Given the description of an element on the screen output the (x, y) to click on. 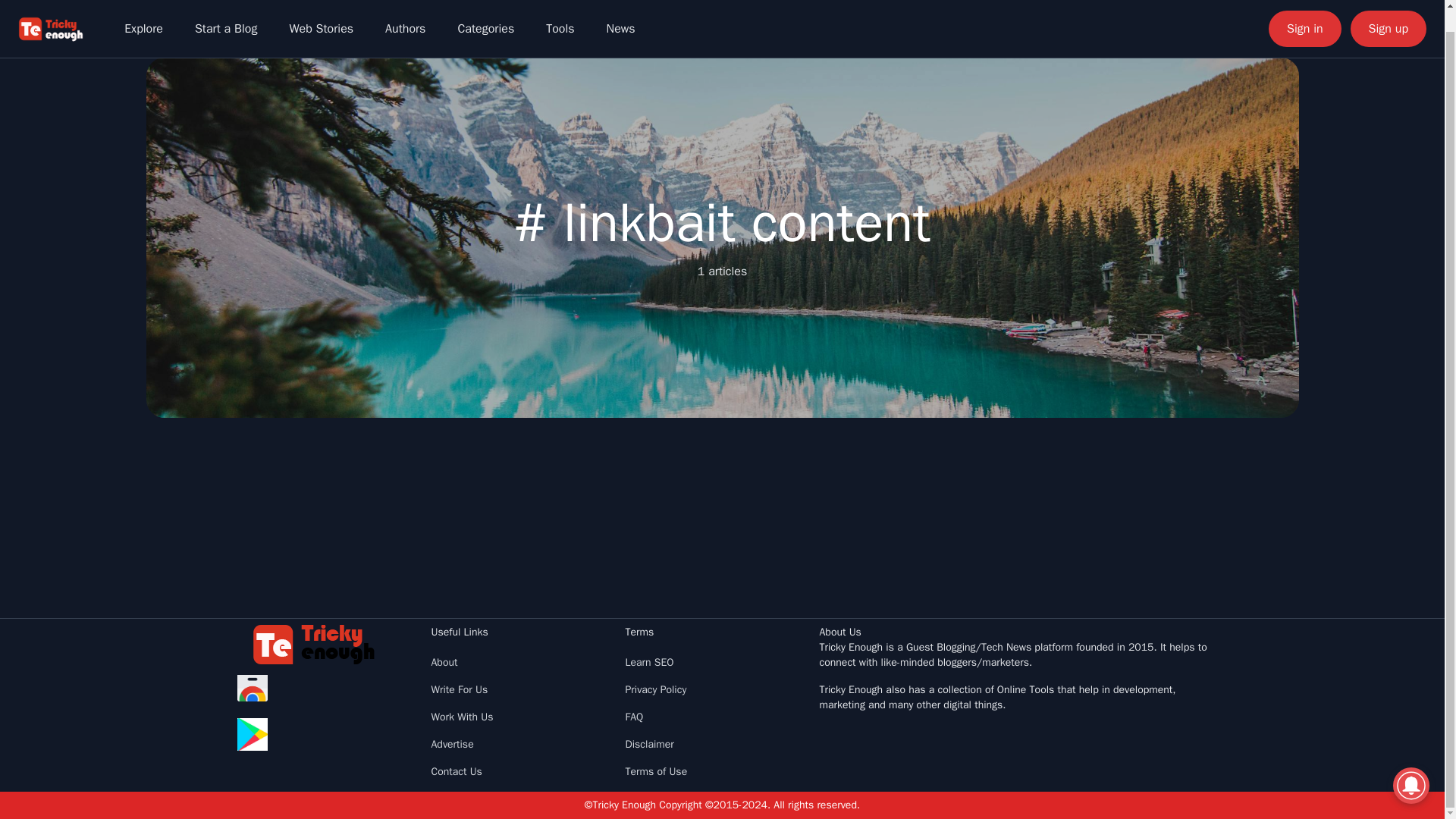
Privacy Policy (654, 689)
Terms of Use (655, 771)
Write For Us (458, 689)
News (620, 11)
Sign in (1304, 12)
Sign up (1388, 12)
Contact Us (455, 771)
Work With Us (461, 716)
Advertise (451, 744)
Tools (560, 11)
Categories (485, 11)
FAQ (633, 716)
Authors (405, 11)
About (443, 662)
Learn SEO (648, 662)
